Given the description of an element on the screen output the (x, y) to click on. 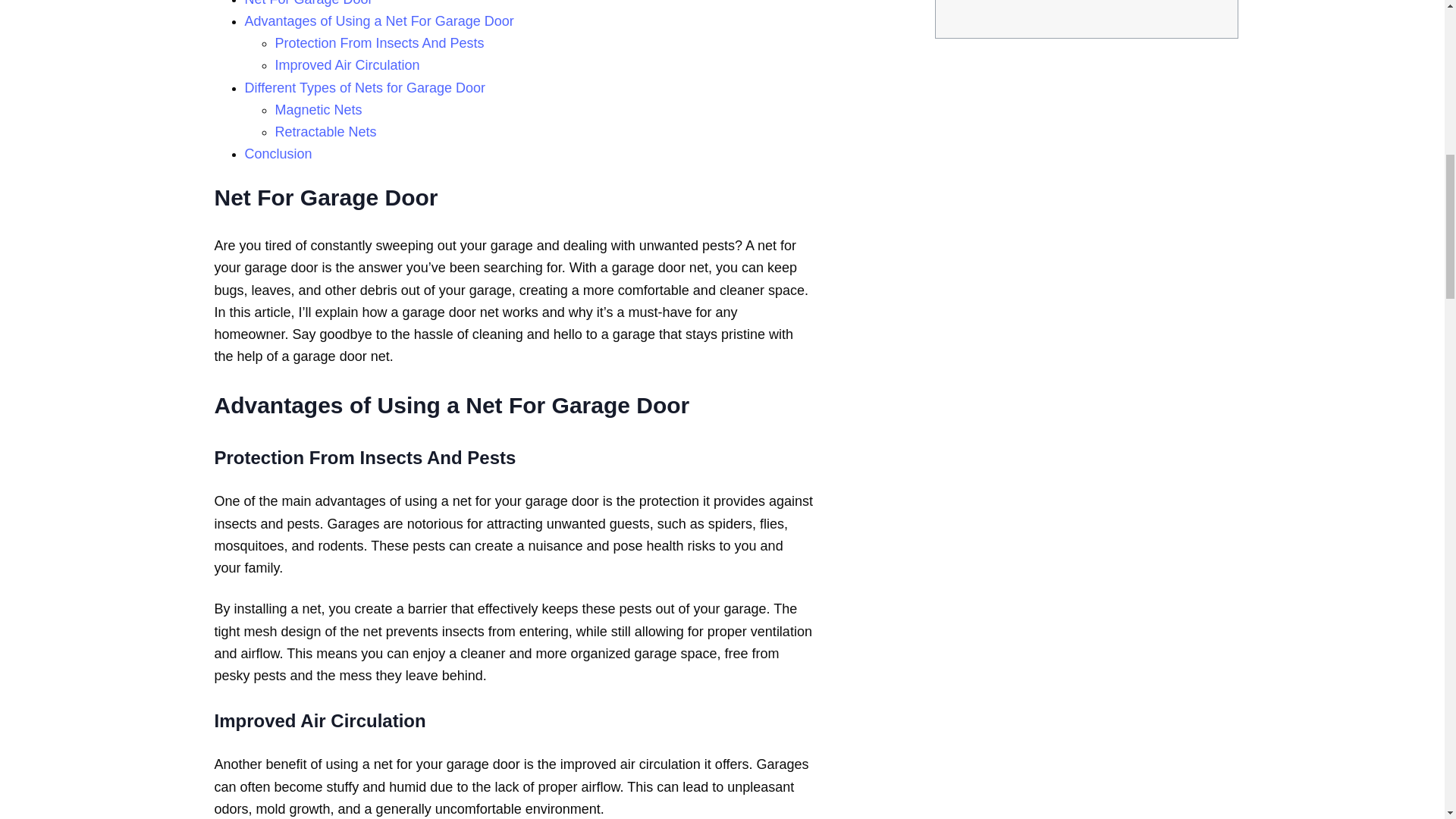
Different Types of Nets for Garage Door (364, 87)
Advantages of Using a Net For Garage Door (378, 21)
Improved Air Circulation (347, 65)
Net For Garage Door (308, 5)
Conclusion (277, 154)
Conclusion (277, 154)
Advantages of Using a Net For Garage Door (378, 21)
Different Types of Nets for Garage Door (364, 87)
Retractable Nets (325, 132)
Magnetic Nets (318, 110)
Retractable Nets (325, 132)
Protection From Insects And Pests (379, 43)
Protection From Insects And Pests (379, 43)
Improved Air Circulation (347, 65)
Magnetic Nets (318, 110)
